Given the description of an element on the screen output the (x, y) to click on. 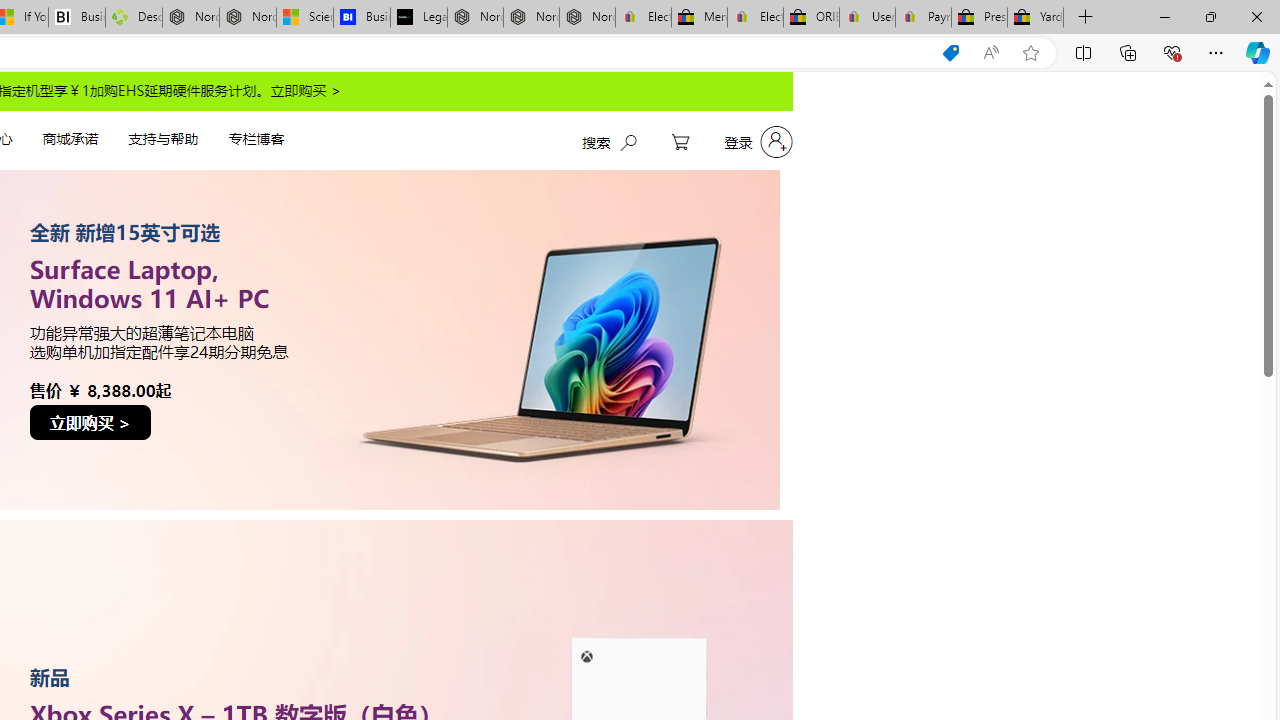
User Privacy Notice | eBay (866, 17)
My Cart (679, 142)
Descarga Driver Updater (134, 17)
